Given the description of an element on the screen output the (x, y) to click on. 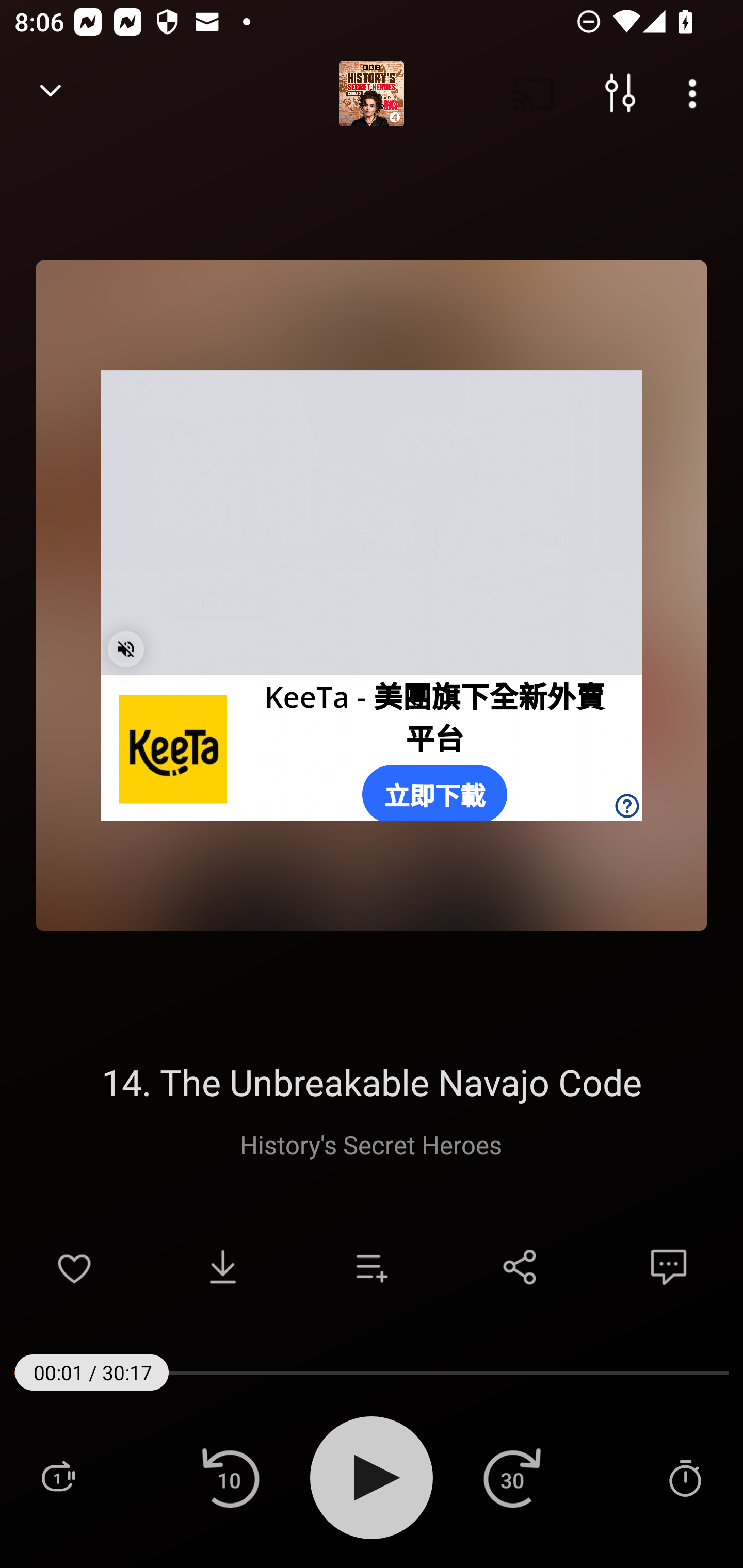
 Back (50, 94)
14. The Unbreakable Navajo Code (371, 1081)
History's Secret Heroes (370, 1144)
Comments (668, 1266)
Add to Favorites (73, 1266)
Add to playlist (371, 1266)
Share (519, 1266)
 Playlist (57, 1477)
Sleep Timer  (684, 1477)
